Given the description of an element on the screen output the (x, y) to click on. 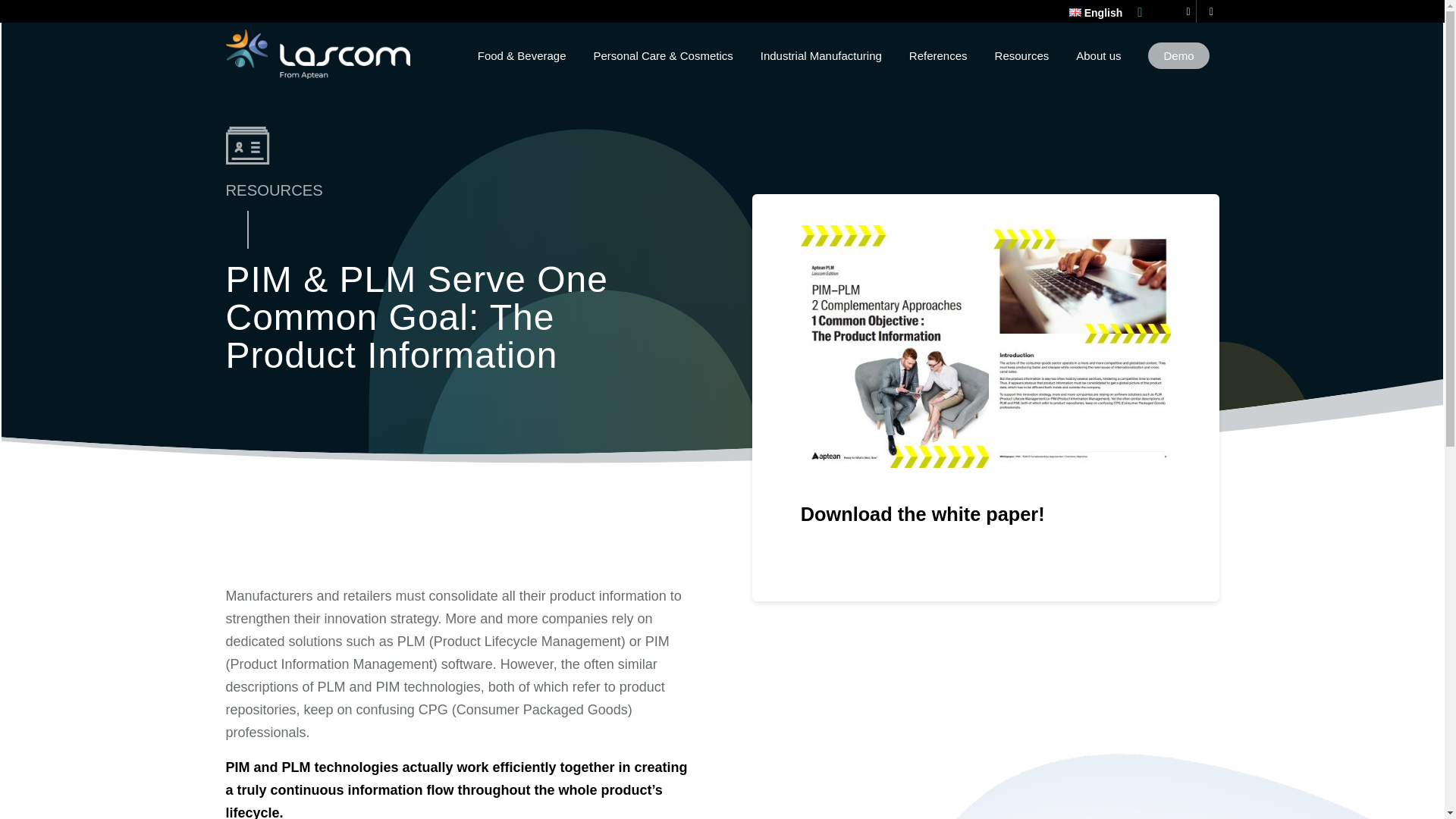
logo-lascom-19-03 (317, 53)
English (1095, 12)
English (1074, 12)
demo (1178, 55)
